Given the description of an element on the screen output the (x, y) to click on. 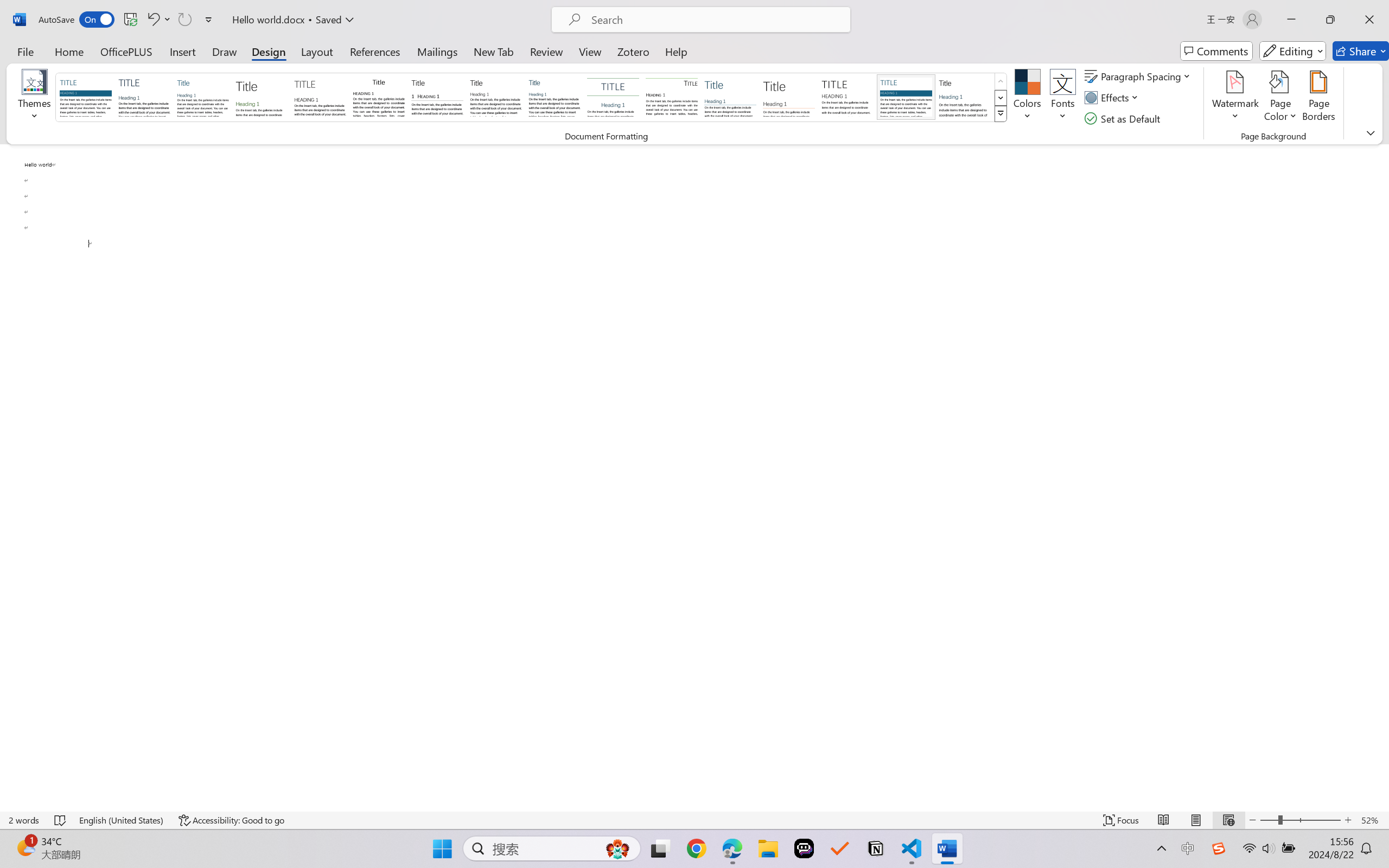
AutoSave (76, 19)
Comments (1216, 50)
Save (130, 19)
Ribbon Display Options (1370, 132)
Zoom (1300, 819)
Focus  (1121, 819)
New Tab (493, 51)
Centered (612, 96)
Read Mode (1163, 819)
Accessibility Checker Accessibility: Good to go (231, 819)
Themes (34, 97)
Restore Down (1330, 19)
